Given the description of an element on the screen output the (x, y) to click on. 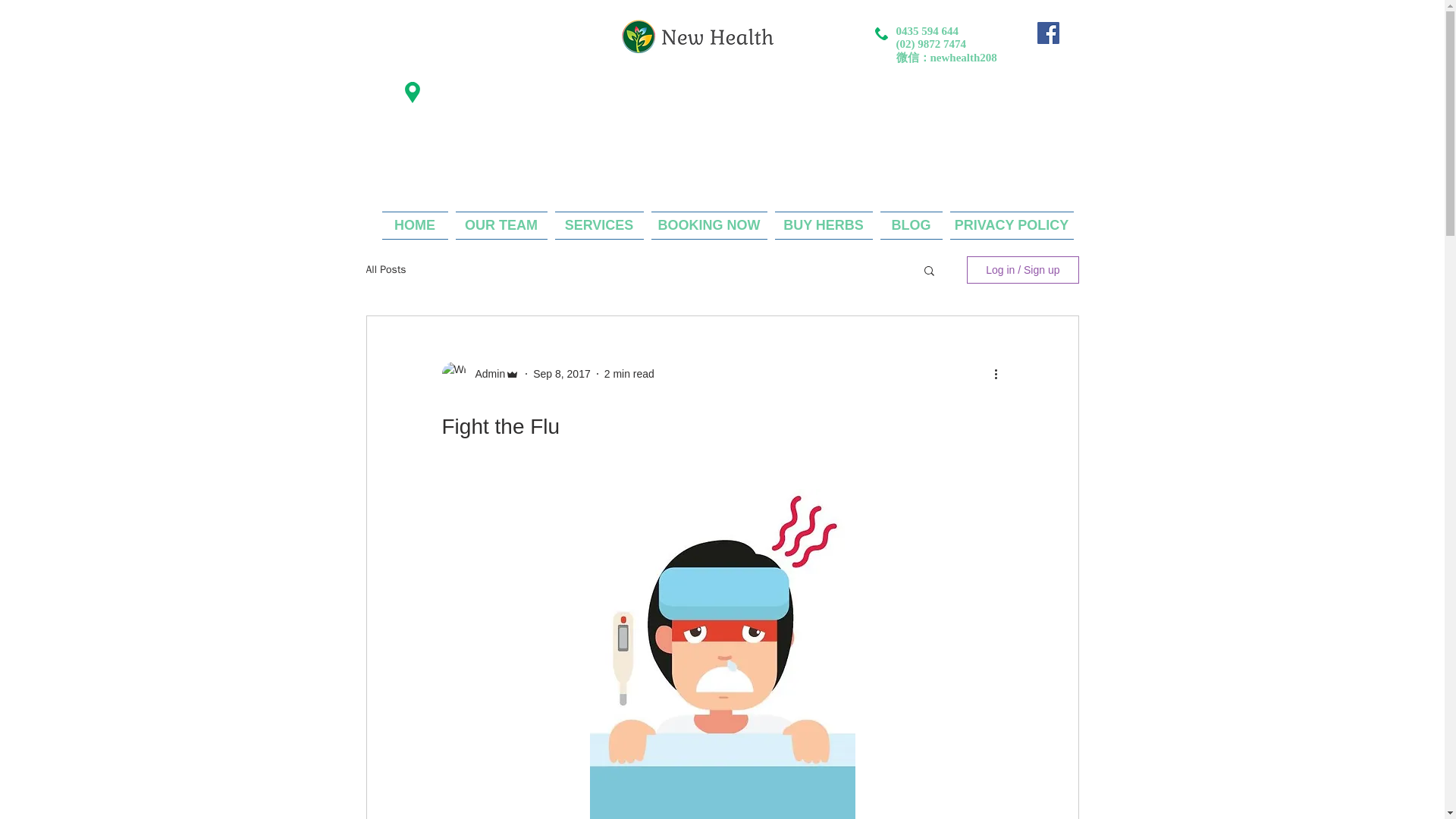
Admin (485, 373)
PRIVACY POLICY (1010, 225)
BUY HERBS (823, 225)
Sep 8, 2017 (561, 372)
BLOG (911, 225)
2 min read (628, 372)
BOOKING NOW (709, 225)
OUR TEAM (501, 225)
SERVICES (598, 225)
HOME (416, 225)
